Given the description of an element on the screen output the (x, y) to click on. 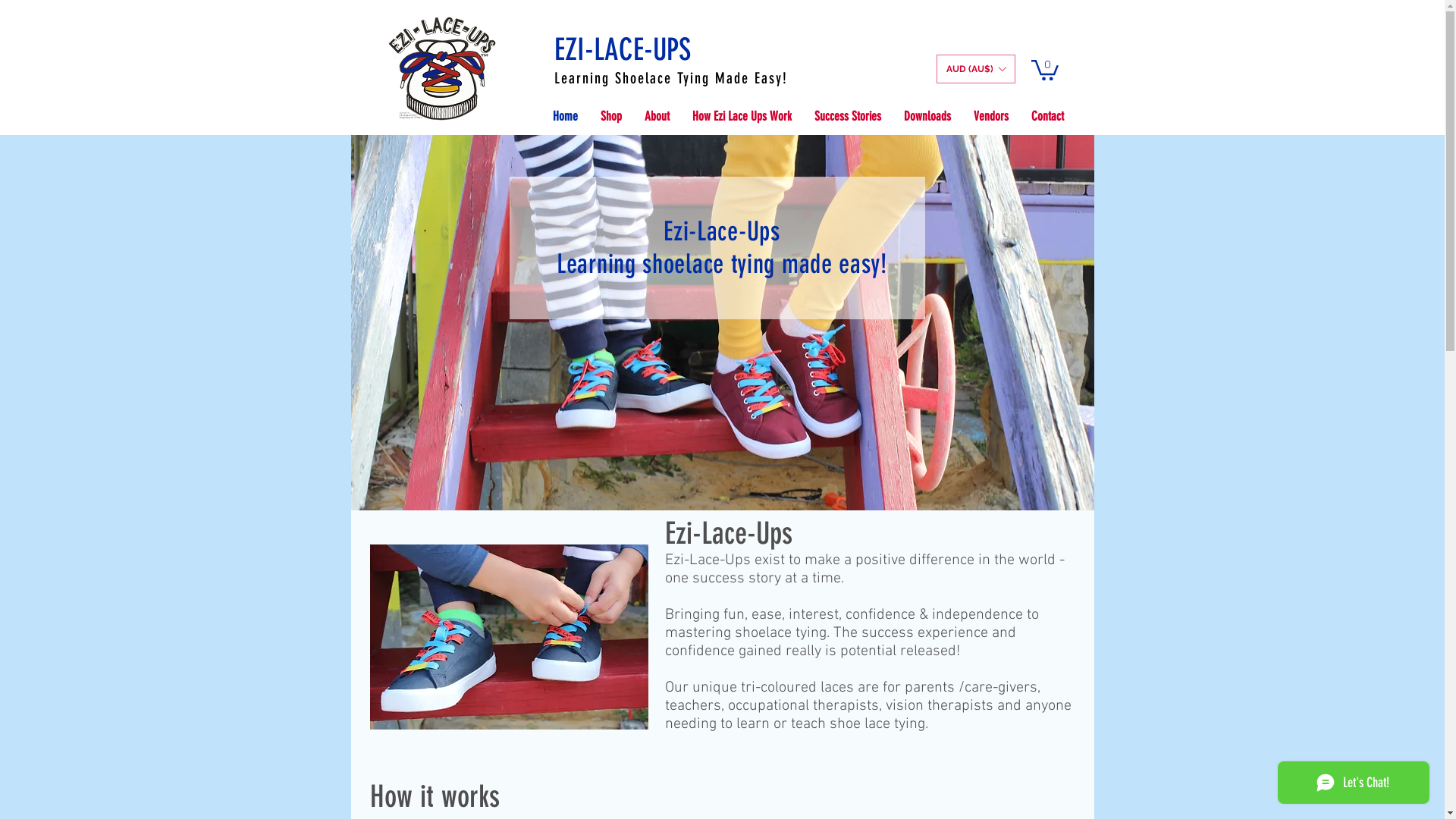
AUD (AU$) Element type: text (974, 68)
Learning Shoelace Tying Made Easy! Element type: text (670, 78)
Downloads Element type: text (926, 115)
Success Stories Element type: text (846, 115)
Vendors Element type: text (990, 115)
0 Element type: text (1044, 68)
Contact Element type: text (1046, 115)
Shop Element type: text (610, 115)
Home Element type: text (565, 115)
How Ezi Lace Ups Work Element type: text (741, 115)
EZI-LACE-UPS Element type: text (621, 49)
About Element type: text (656, 115)
